Given the description of an element on the screen output the (x, y) to click on. 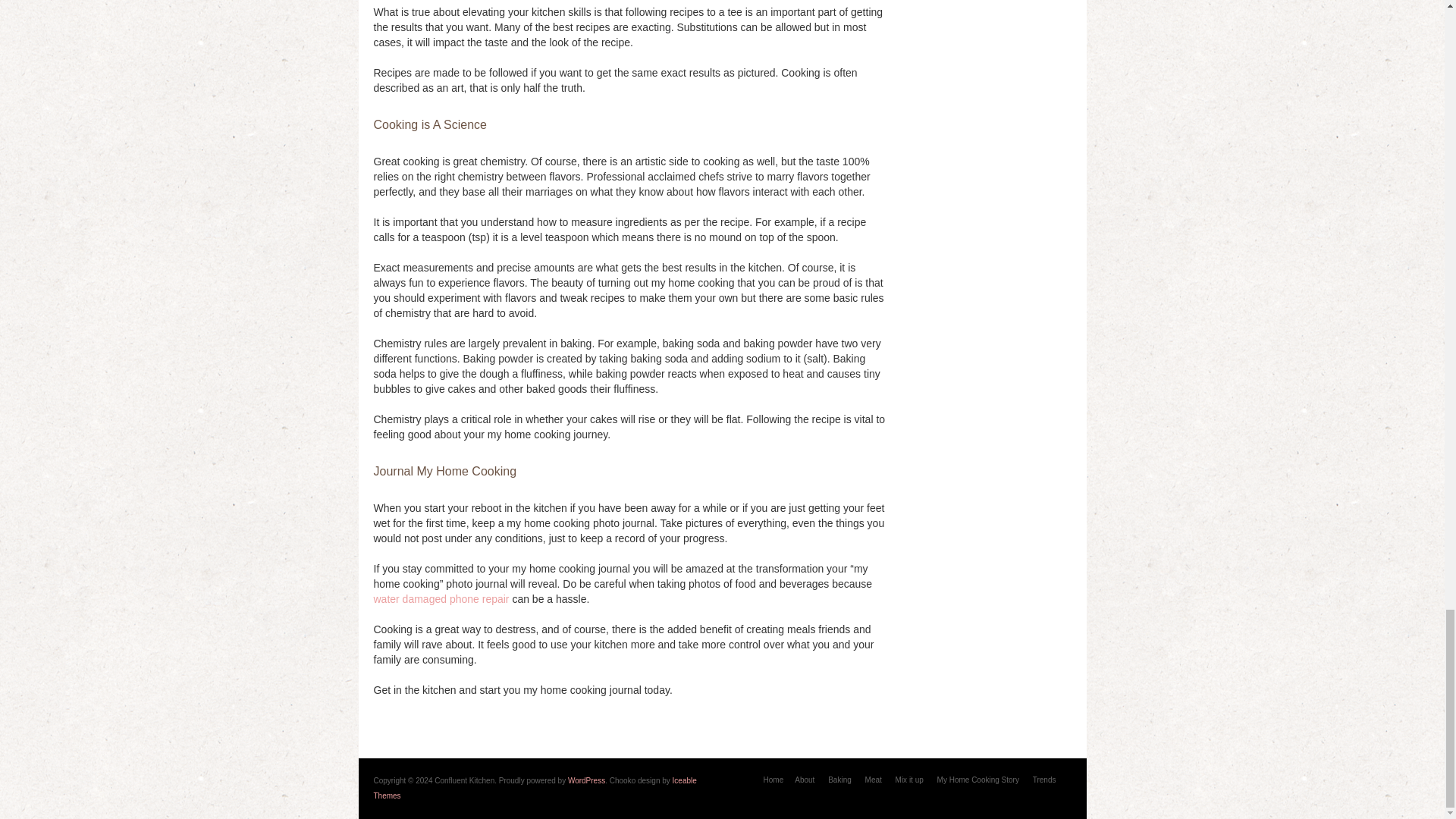
About (803, 779)
WordPress (586, 780)
Home (773, 779)
Mix it up (909, 779)
Iceable Themes (533, 788)
Meat (873, 779)
Semantic Personal Publishing Platform (586, 780)
water damaged phone repair (440, 598)
Free and Premium WordPress Themes (533, 788)
Trends (1044, 779)
